Given the description of an element on the screen output the (x, y) to click on. 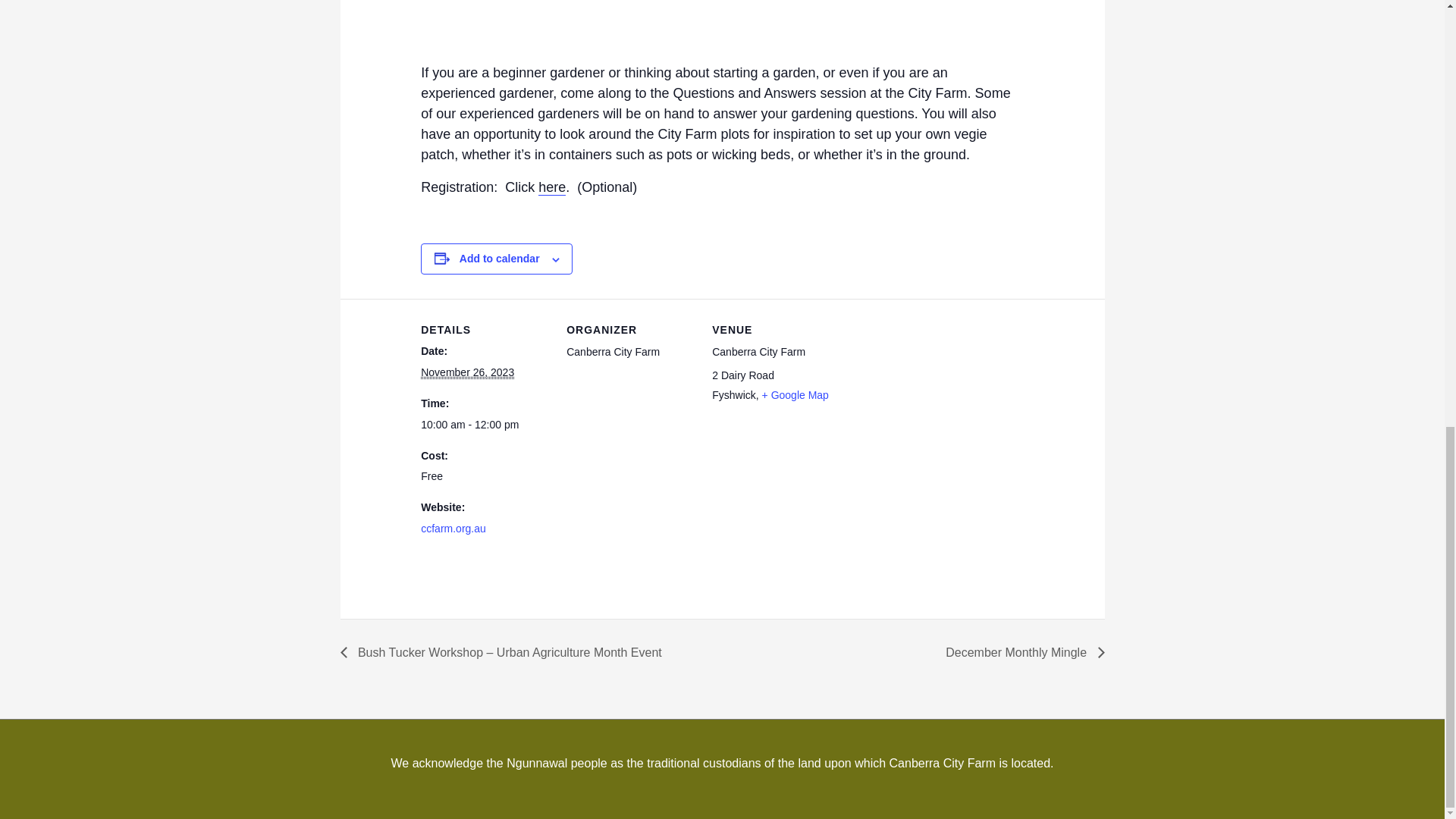
2023-11-26 (484, 424)
2023-11-26 (466, 372)
Click to view a Google Map (794, 395)
